Given the description of an element on the screen output the (x, y) to click on. 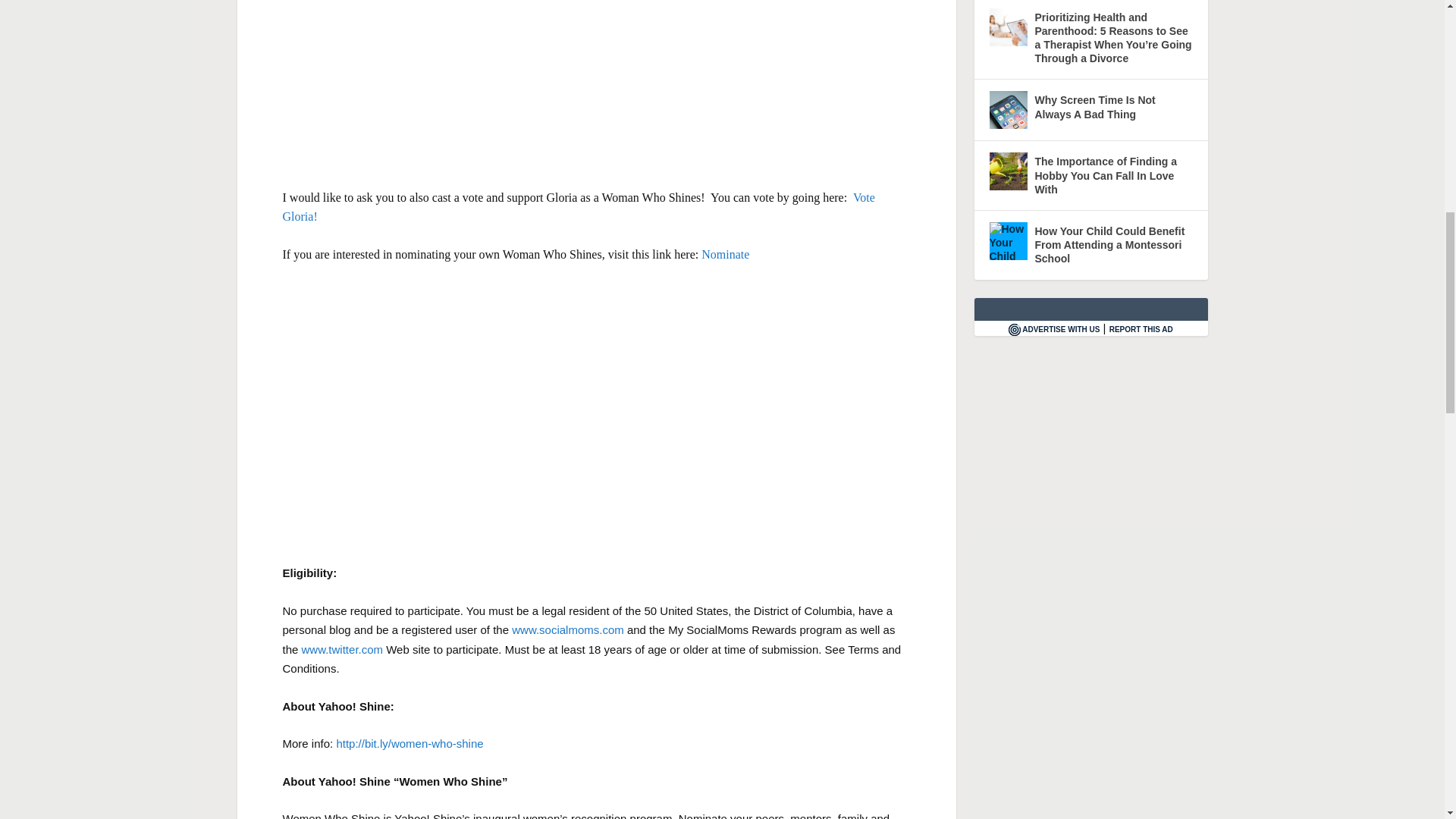
Vote Gloria! (578, 206)
 www.socialmoms.com (566, 629)
Nominate (725, 254)
yahoo (596, 84)
www.twitter.com (342, 649)
